Given the description of an element on the screen output the (x, y) to click on. 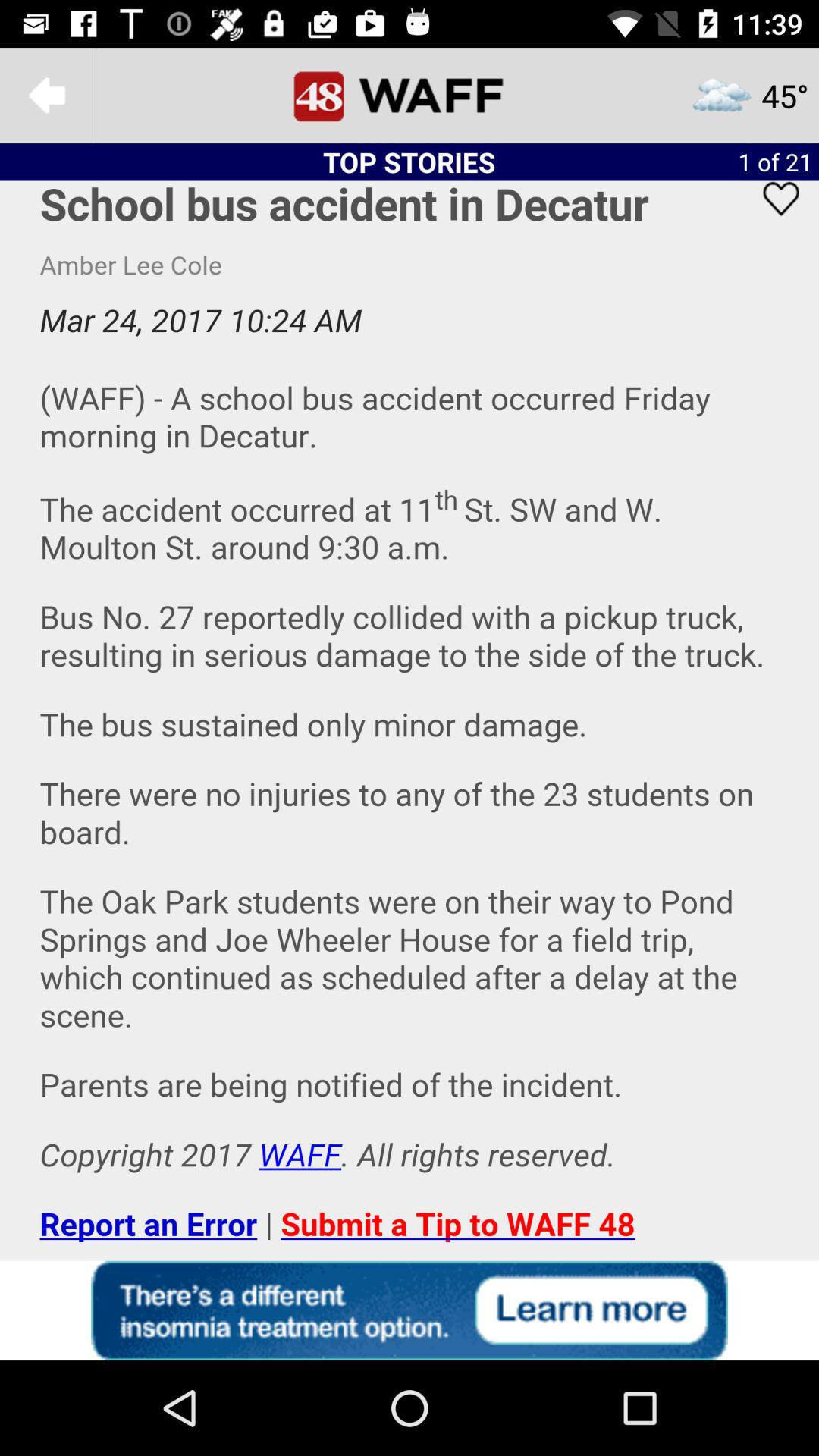
to goto previous menu (47, 95)
